Given the description of an element on the screen output the (x, y) to click on. 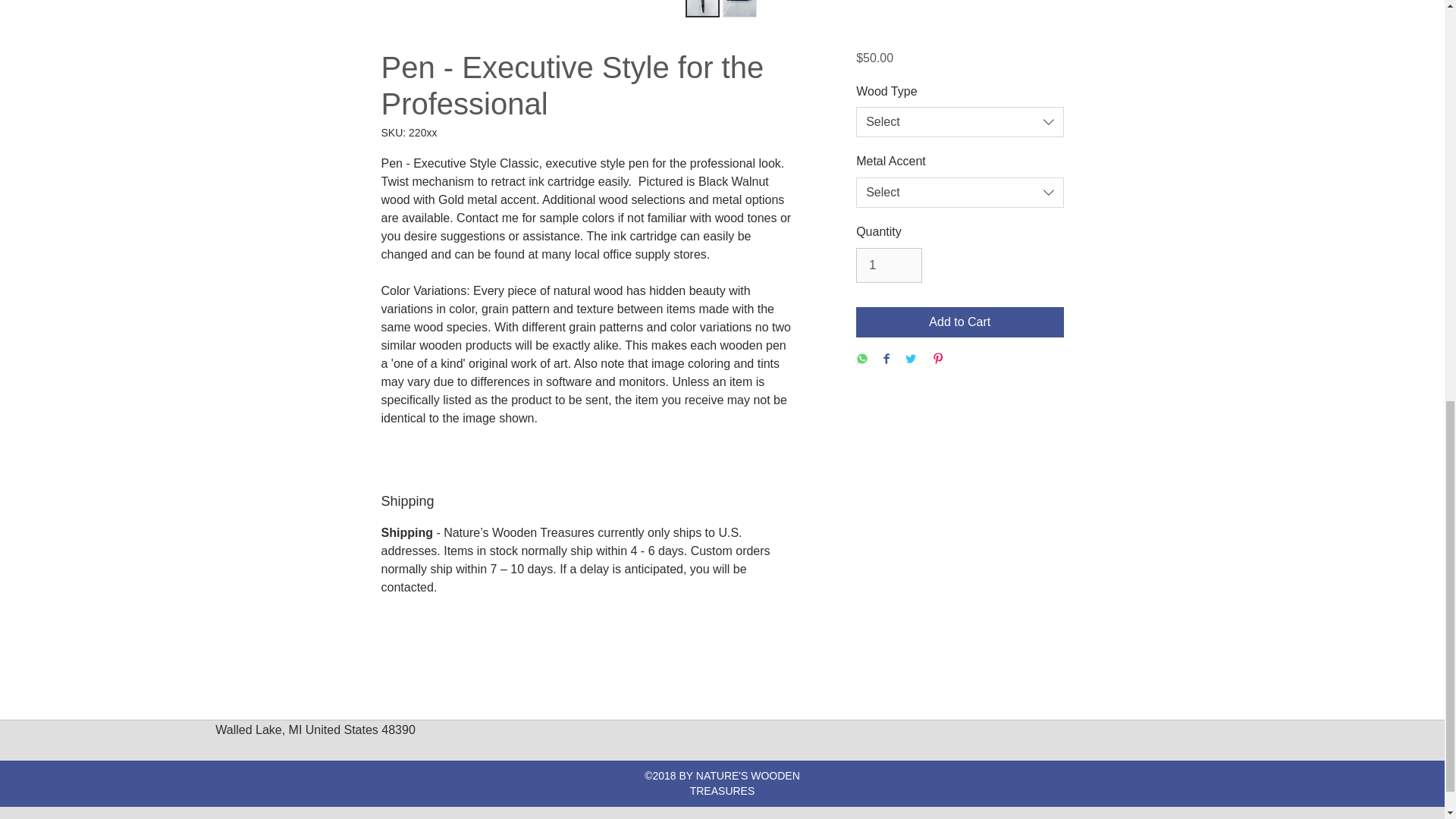
1 (888, 265)
Add to Cart (959, 322)
Select (959, 192)
Select (959, 122)
